Given the description of an element on the screen output the (x, y) to click on. 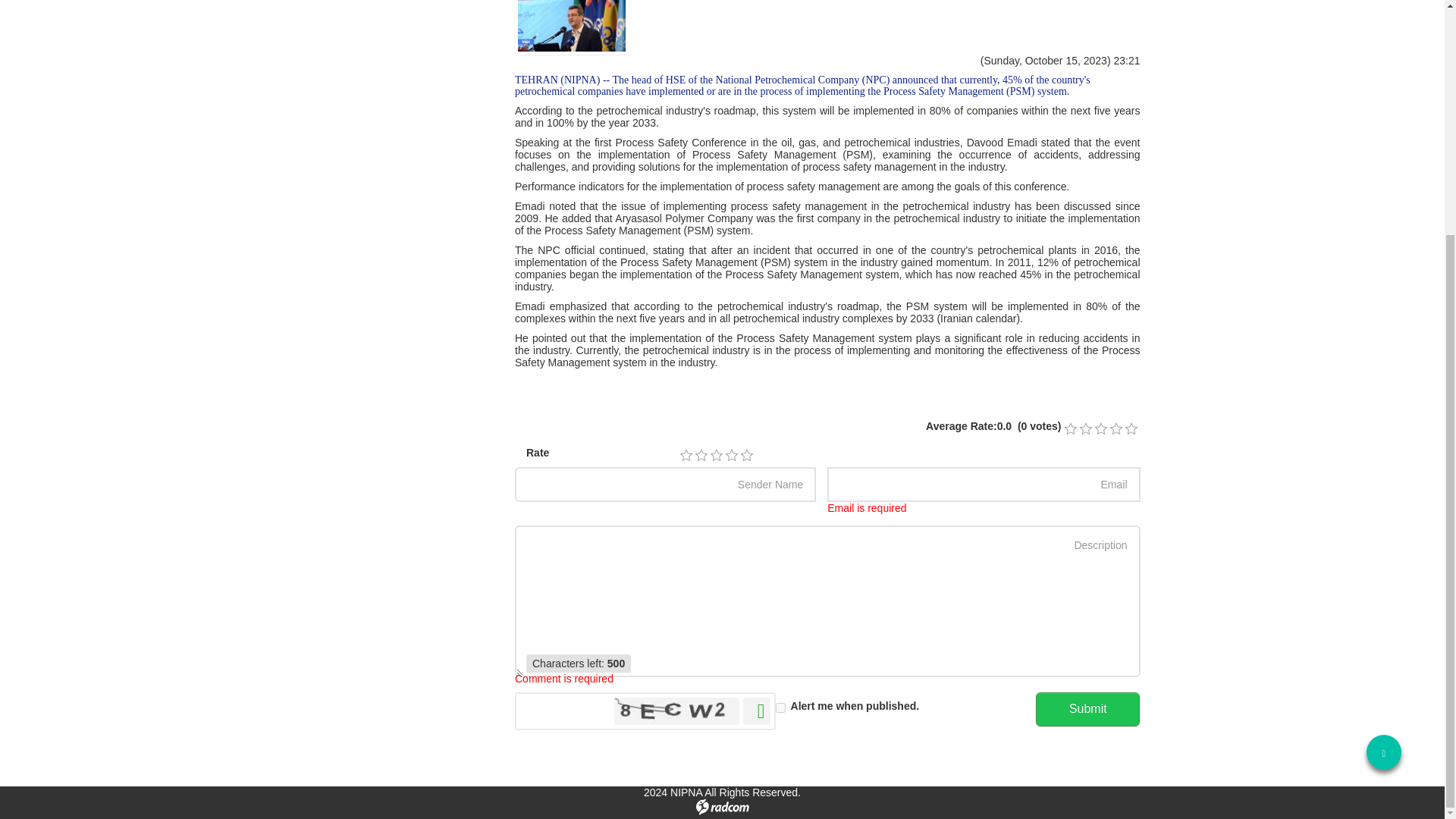
0 (1130, 428)
on (781, 707)
0 (1099, 428)
0 (1085, 428)
0 (1115, 428)
0 (1069, 428)
2 (700, 455)
1 (686, 455)
